Given the description of an element on the screen output the (x, y) to click on. 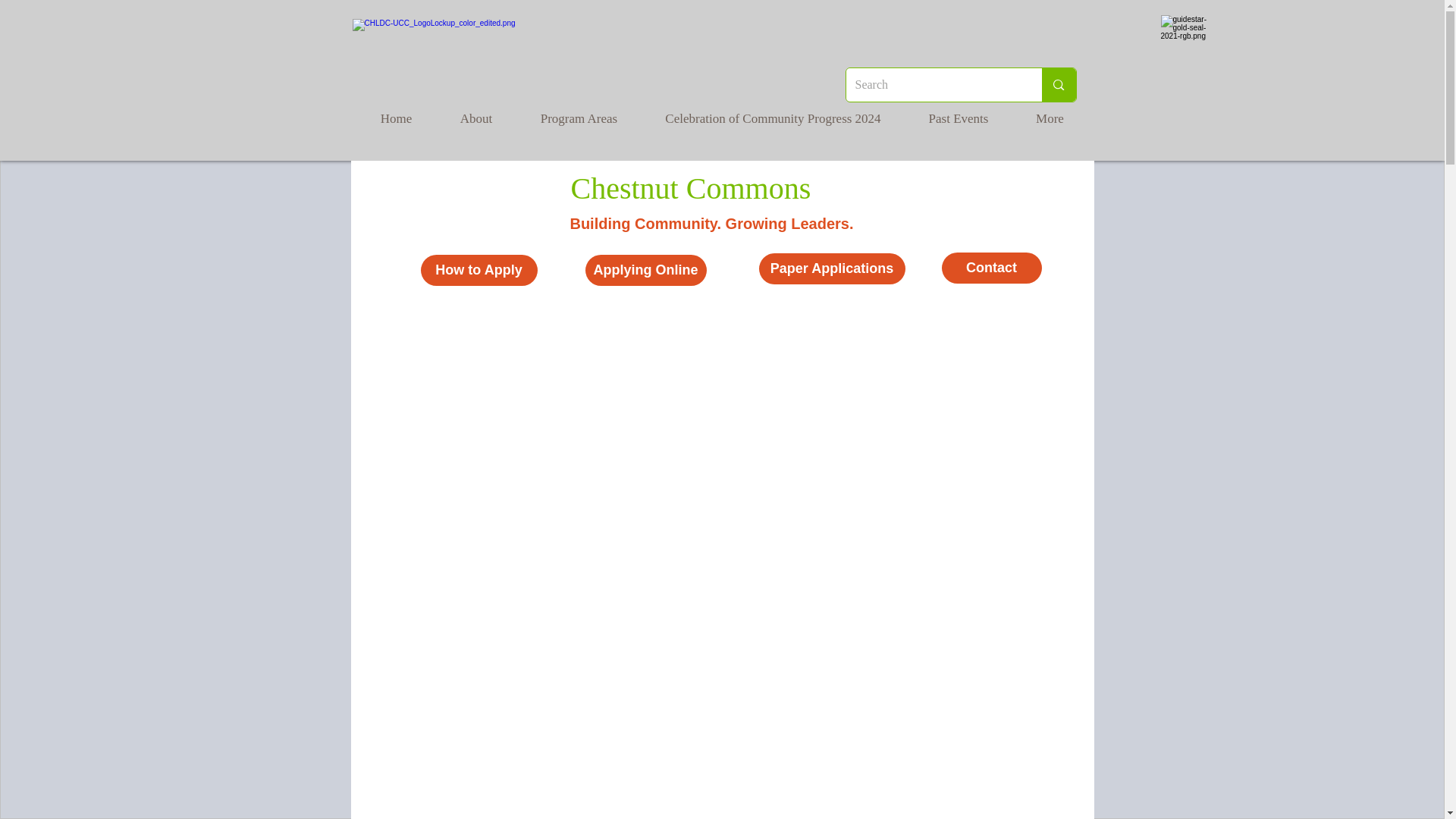
About (475, 118)
Applying Online (645, 269)
Paper Applications (831, 268)
Home (395, 118)
Past Events (957, 118)
Celebration of Community Progress 2024 (773, 118)
Program Areas (577, 118)
Contact (992, 267)
How to Apply (478, 269)
